Given the description of an element on the screen output the (x, y) to click on. 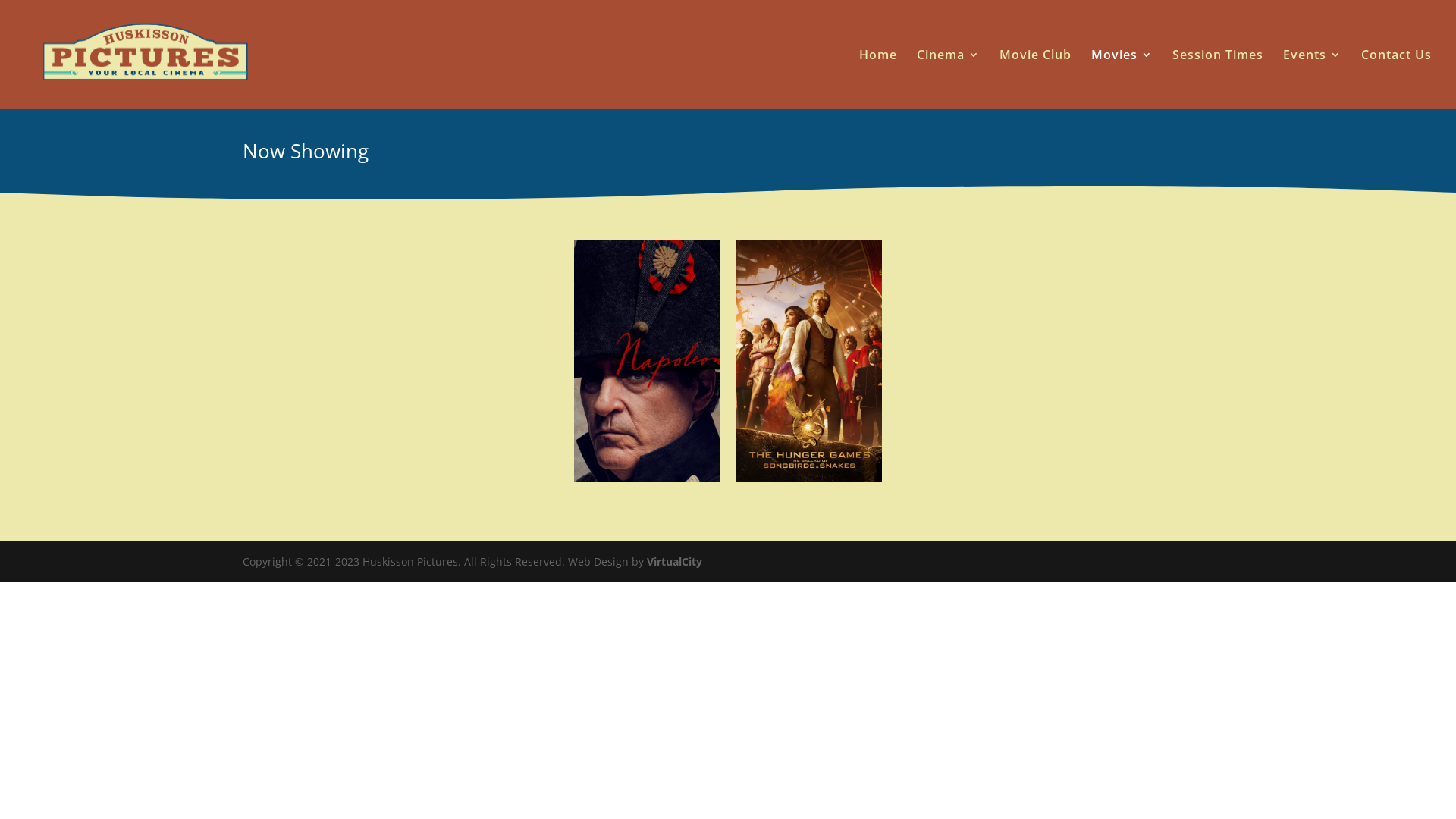
Movie Club Element type: text (1035, 79)
Events Element type: text (1312, 79)
Session Times Element type: text (1217, 79)
Home Element type: text (878, 79)
Movies Element type: text (1121, 79)
Contact Us Element type: text (1396, 79)
VirtualCity Element type: text (674, 561)
Cinema Element type: text (947, 79)
